Given the description of an element on the screen output the (x, y) to click on. 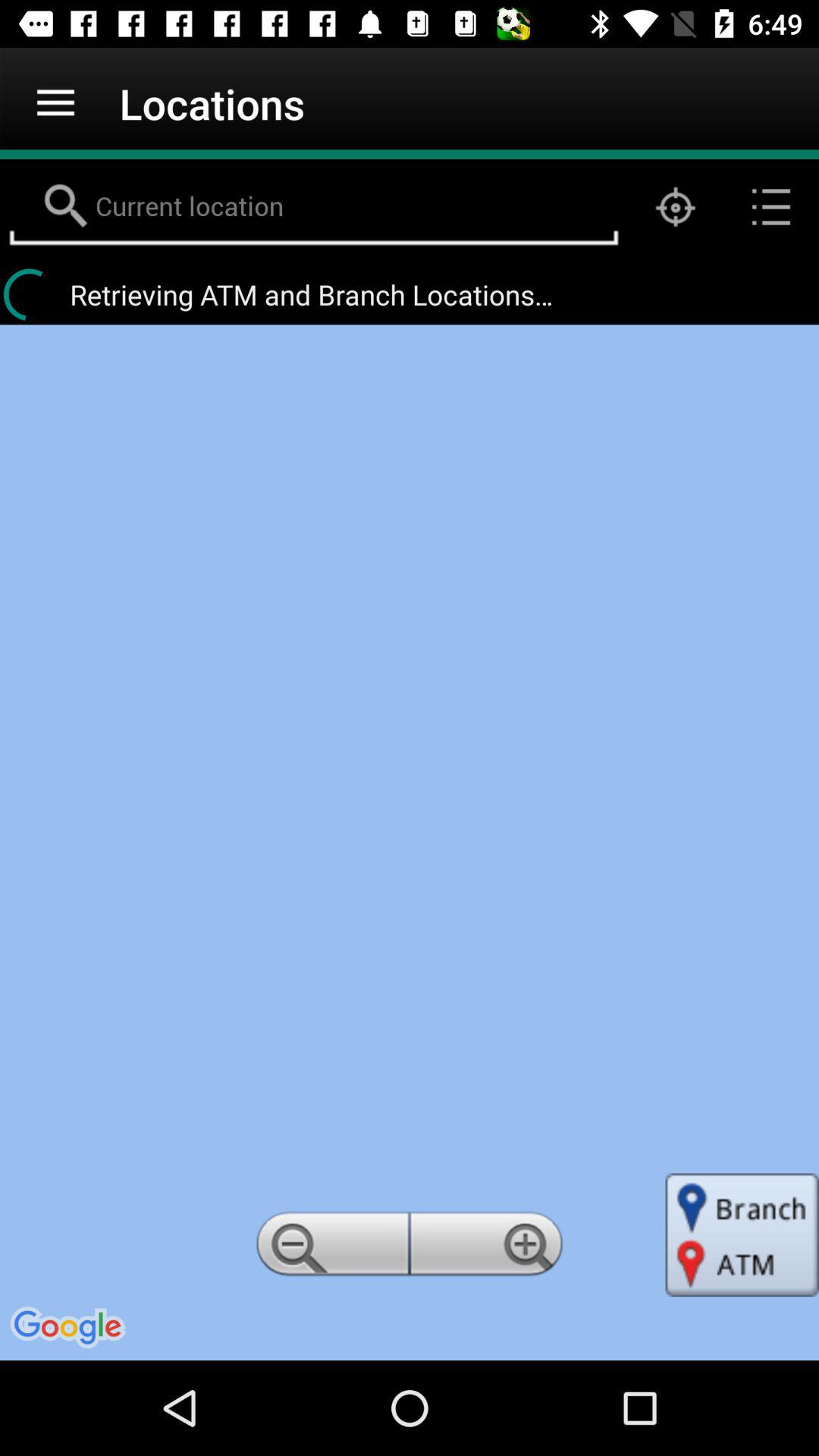
open the icon above retrieving atm and icon (675, 206)
